Given the description of an element on the screen output the (x, y) to click on. 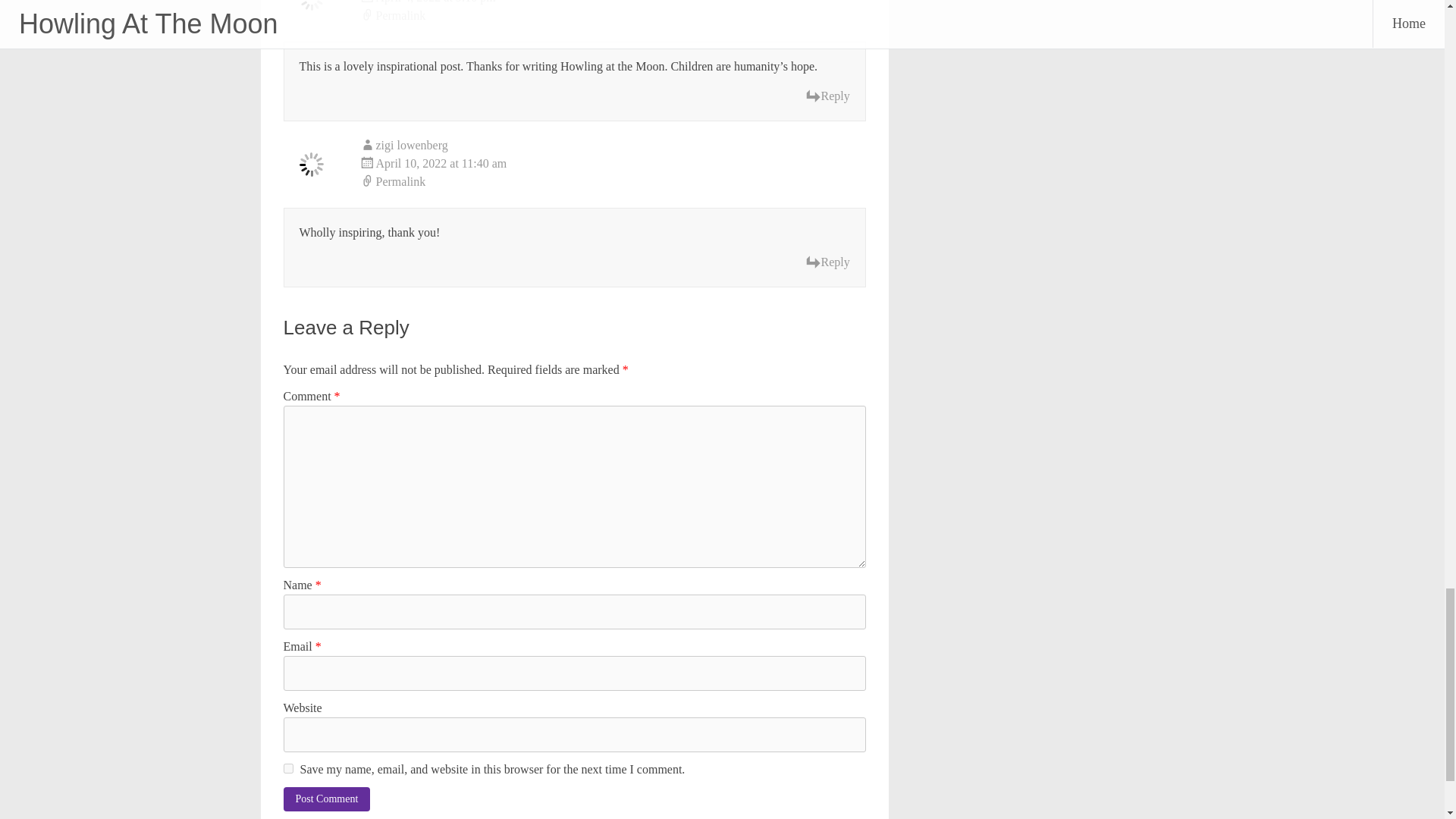
Reply (827, 95)
Permalink (612, 181)
Post Comment (327, 799)
Reply (827, 262)
Permalink (612, 15)
yes (288, 768)
Post Comment (327, 799)
